Given the description of an element on the screen output the (x, y) to click on. 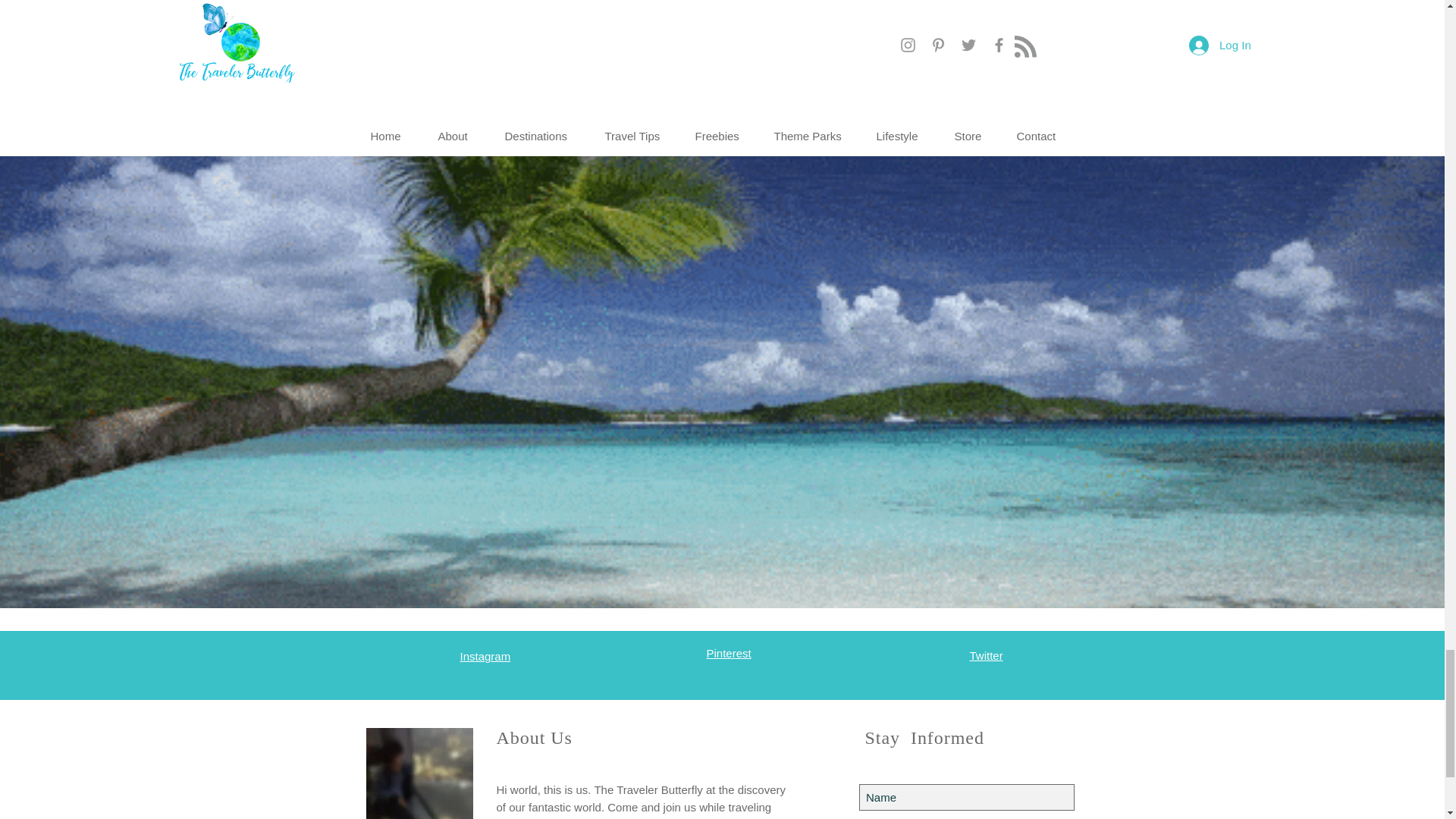
inside de Shanghai Tower (418, 773)
Wix Get Subscribers (966, 789)
